Given the description of an element on the screen output the (x, y) to click on. 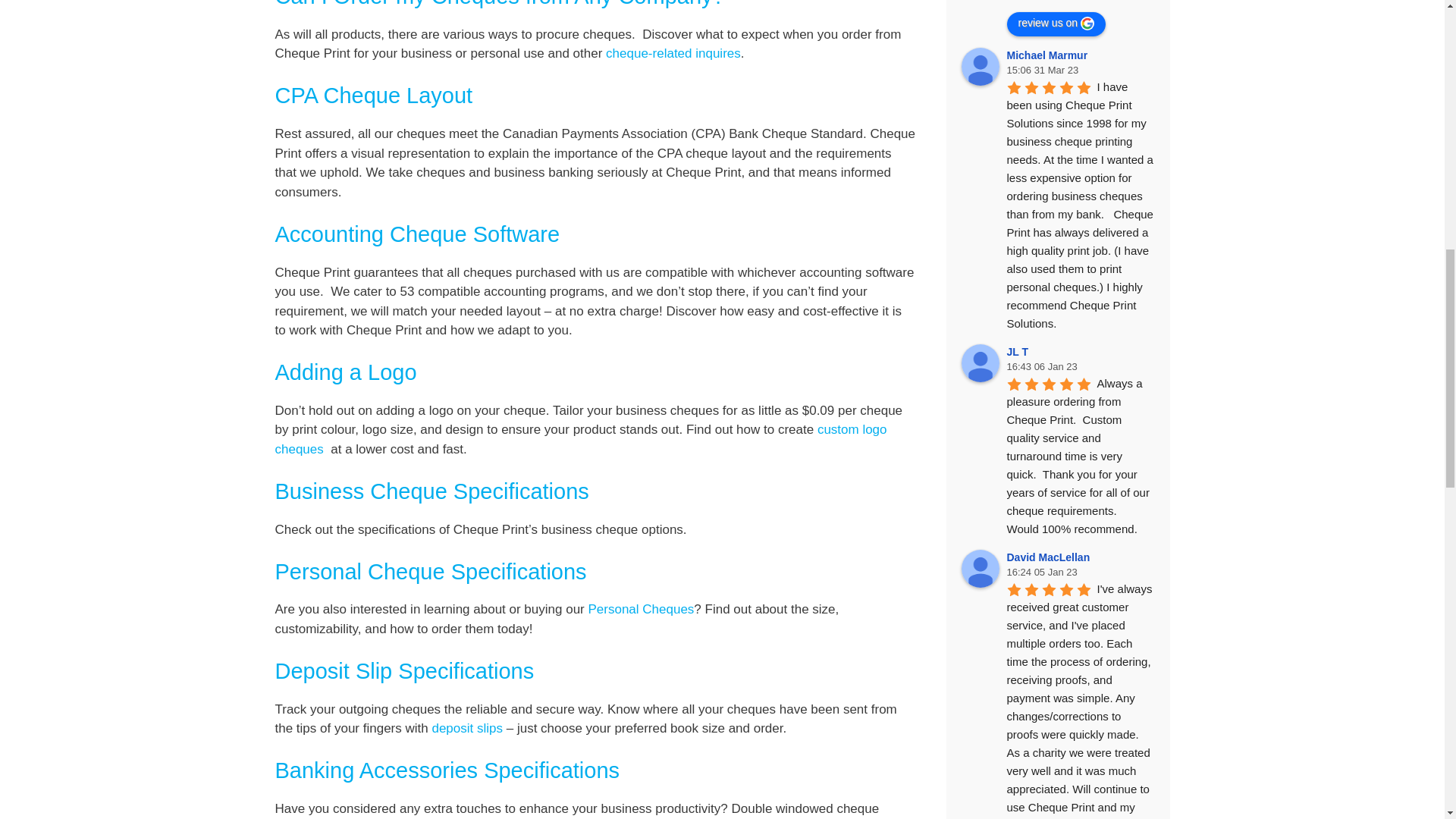
David MacLellan (979, 568)
Michael Marmur (979, 66)
JL T (979, 362)
